Given the description of an element on the screen output the (x, y) to click on. 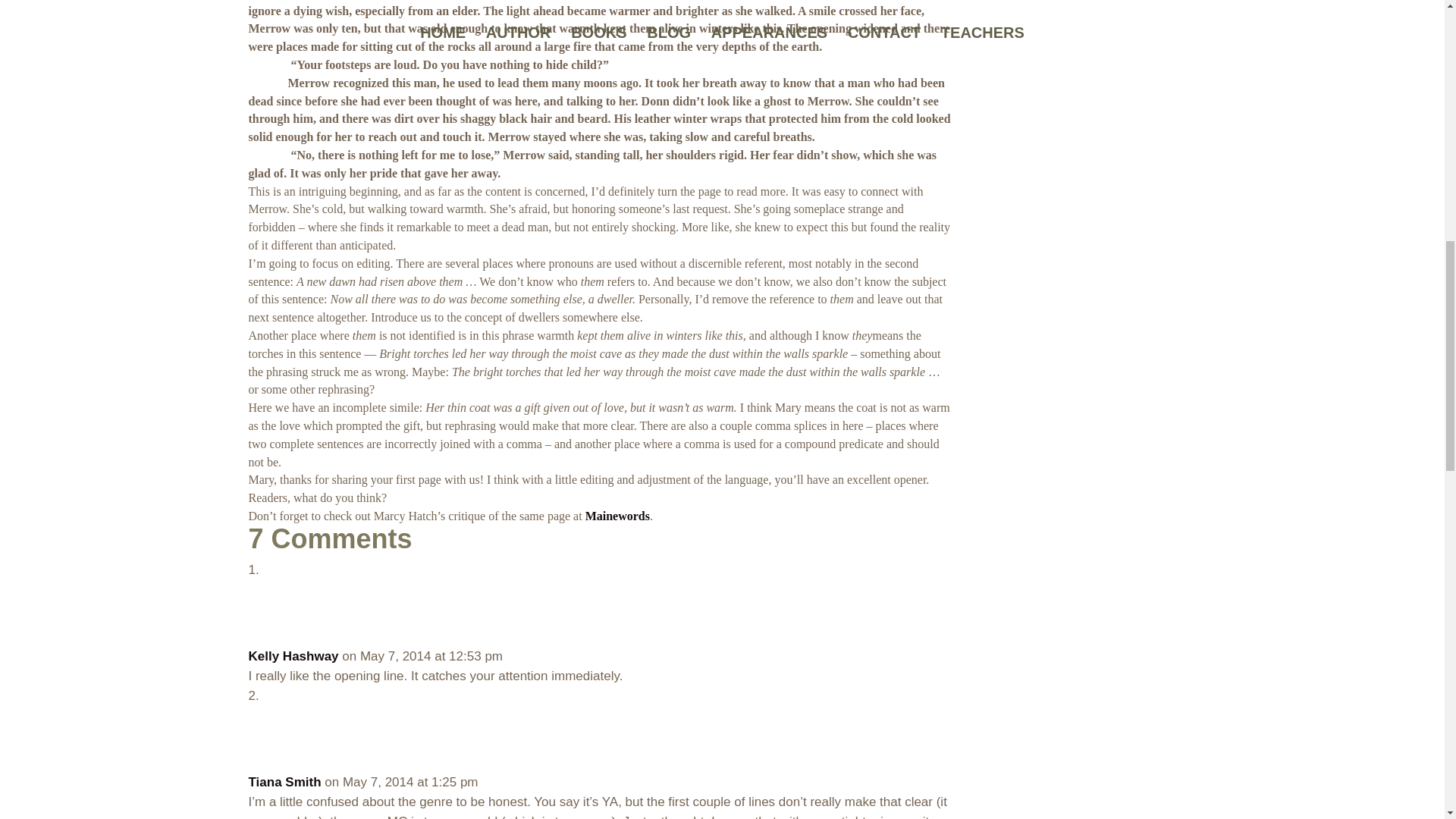
Kelly Hashway (293, 656)
Mainewords (617, 515)
Tiana Smith (284, 781)
